Given the description of an element on the screen output the (x, y) to click on. 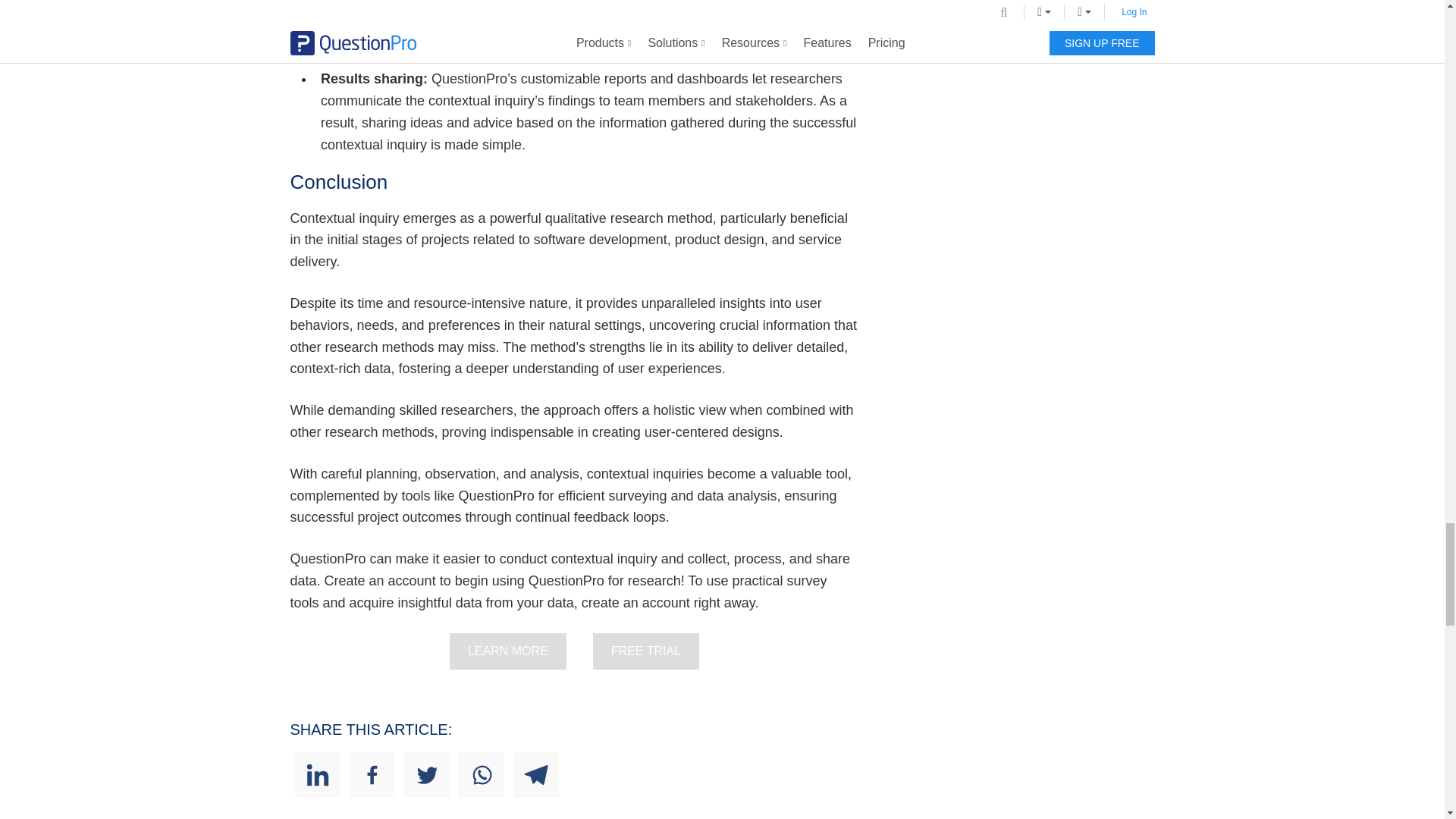
Telegram (534, 774)
Linkedin (316, 774)
Twitter (425, 774)
Whatsapp (480, 774)
Facebook (371, 774)
